Given the description of an element on the screen output the (x, y) to click on. 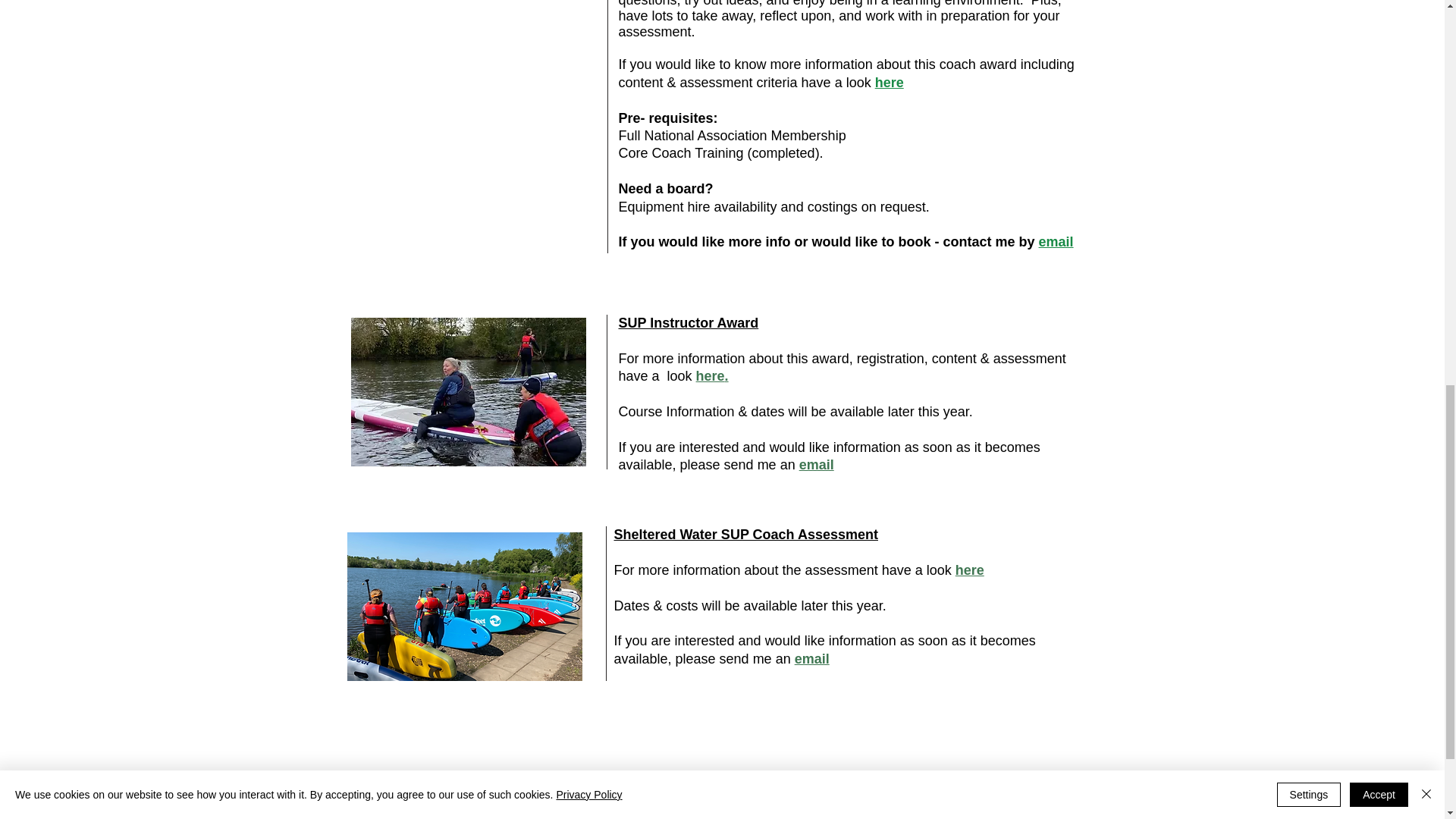
email (811, 658)
here (969, 570)
here.  (713, 376)
email (1056, 241)
email (816, 464)
here (889, 82)
